Given the description of an element on the screen output the (x, y) to click on. 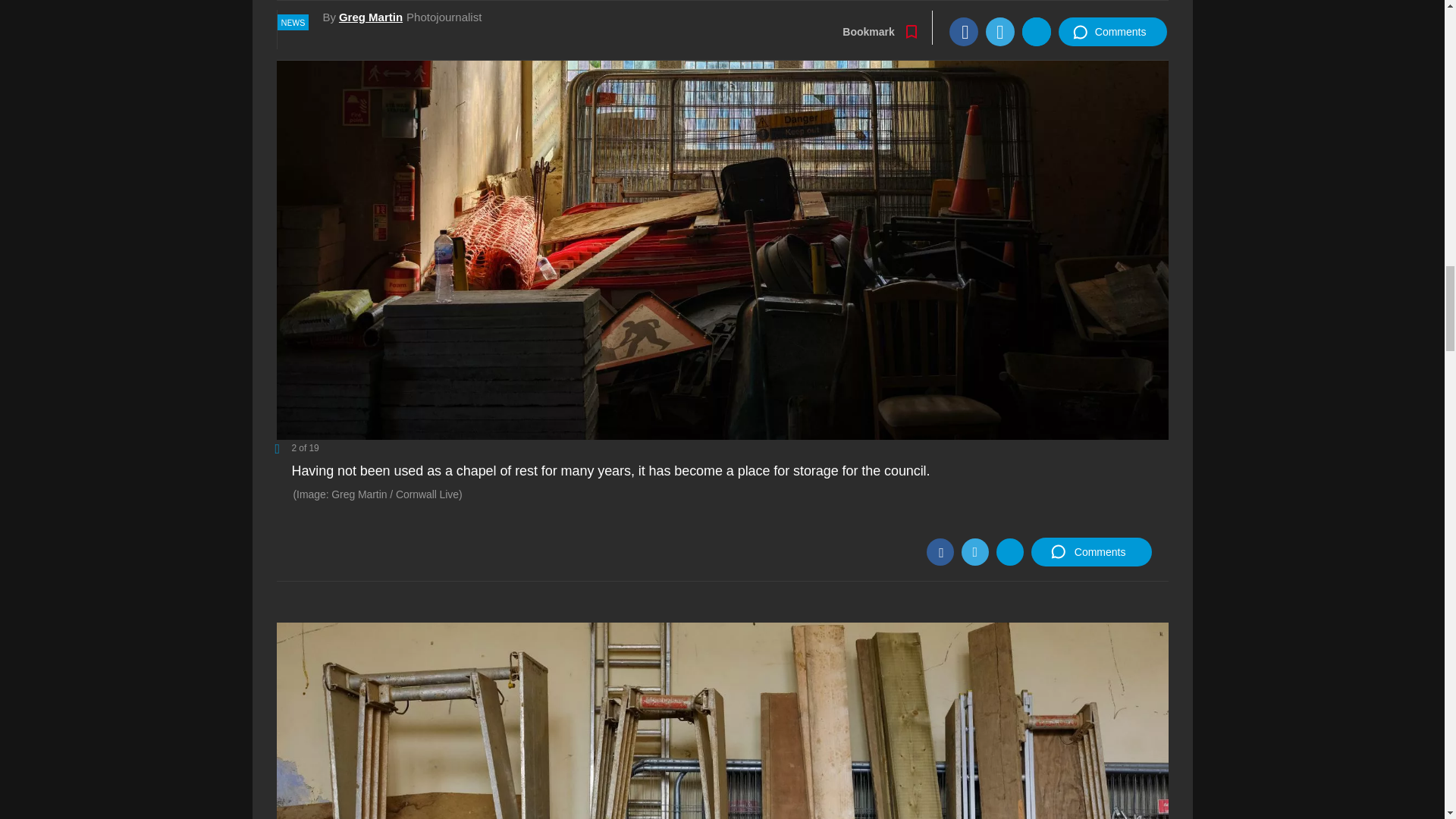
Facebook (939, 551)
Twitter (974, 551)
Comments (1090, 551)
